Given the description of an element on the screen output the (x, y) to click on. 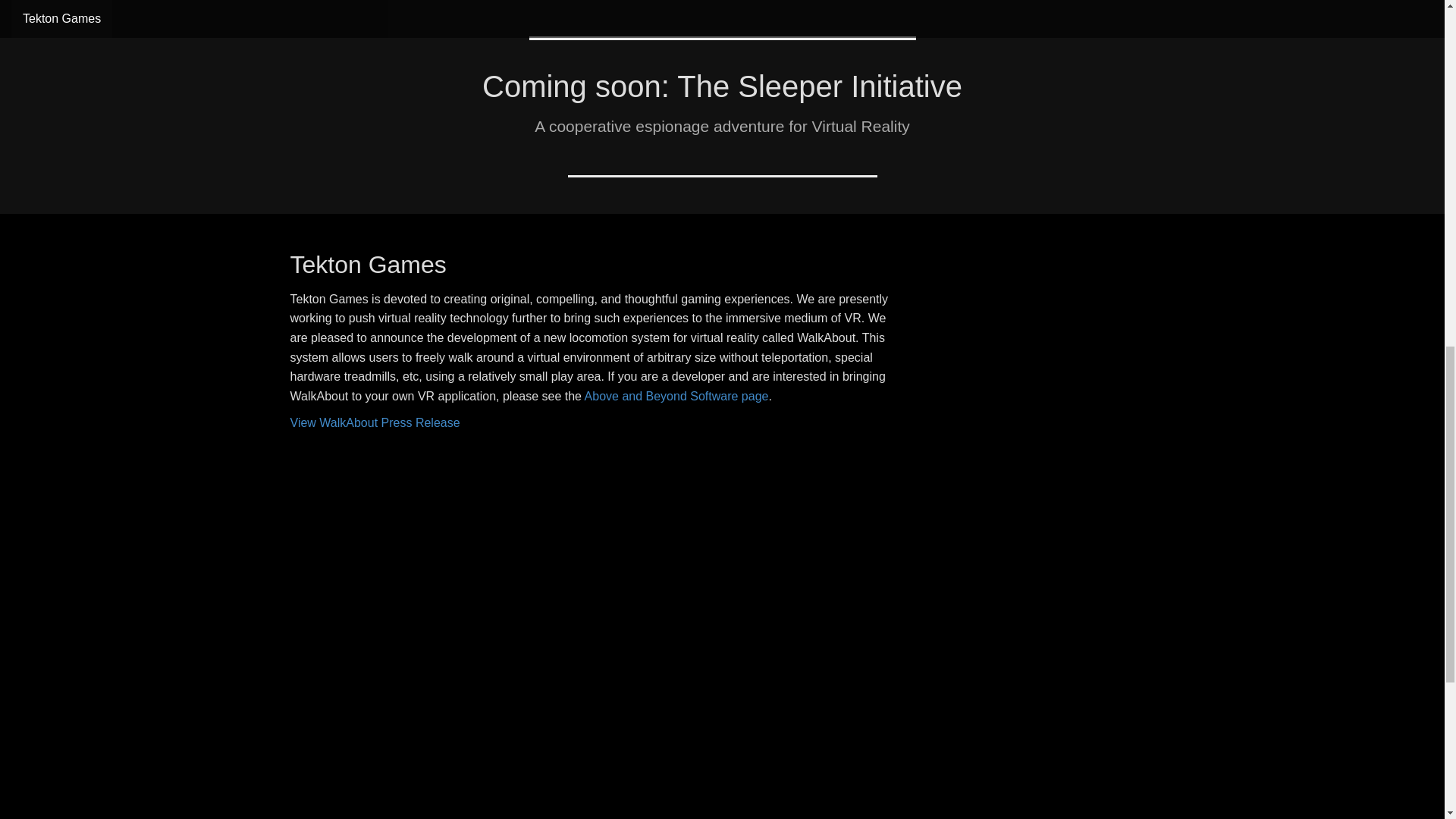
Coming soon: The Sleeper Initiative (721, 86)
Above and Beyond Software page (676, 395)
View WalkAbout Press Release (374, 422)
